Given the description of an element on the screen output the (x, y) to click on. 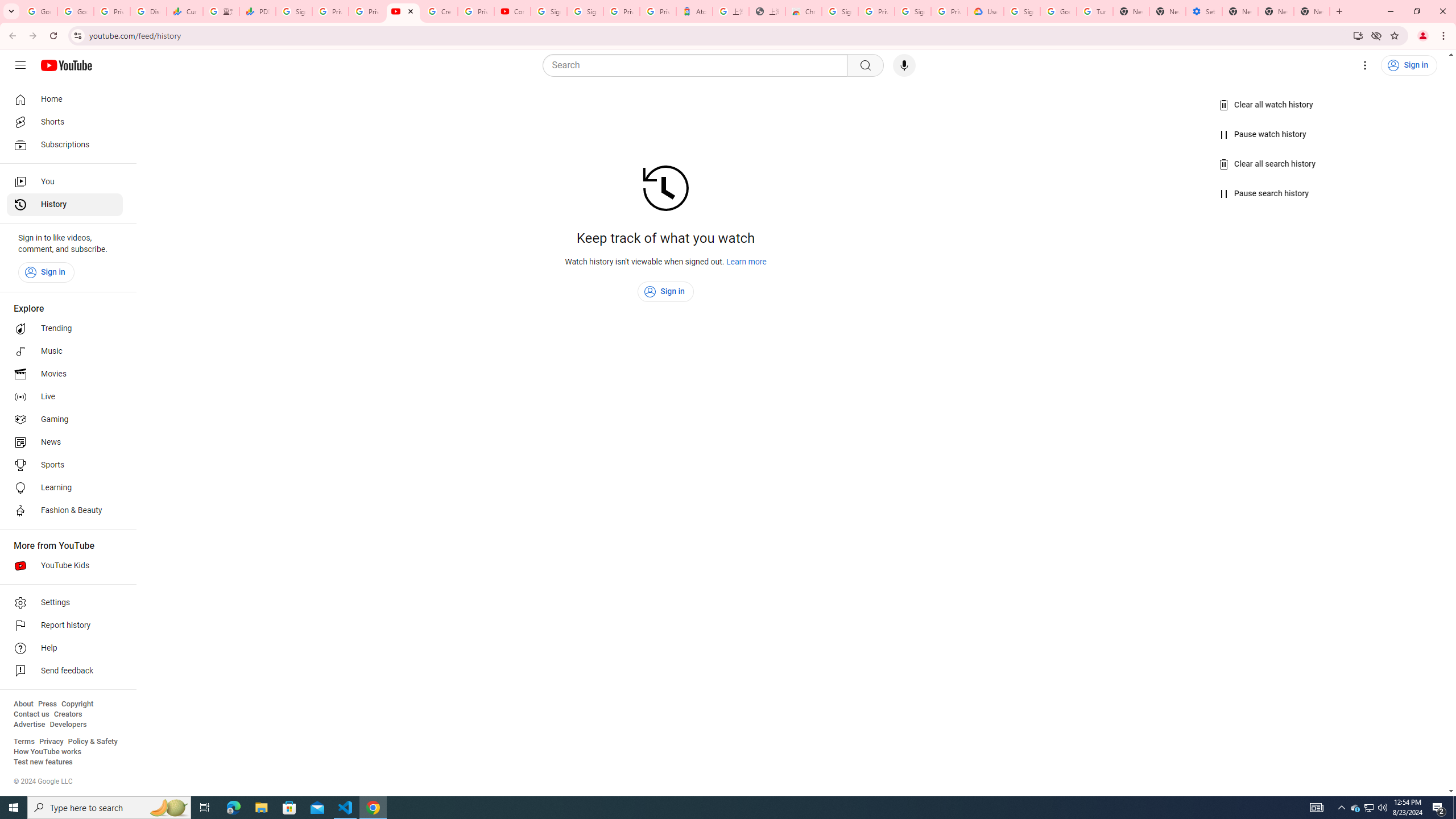
Create your Google Account (439, 11)
Settings - System (1203, 11)
Developers (68, 724)
Search with your voice (903, 65)
Movies (64, 373)
Fashion & Beauty (64, 510)
